Given the description of an element on the screen output the (x, y) to click on. 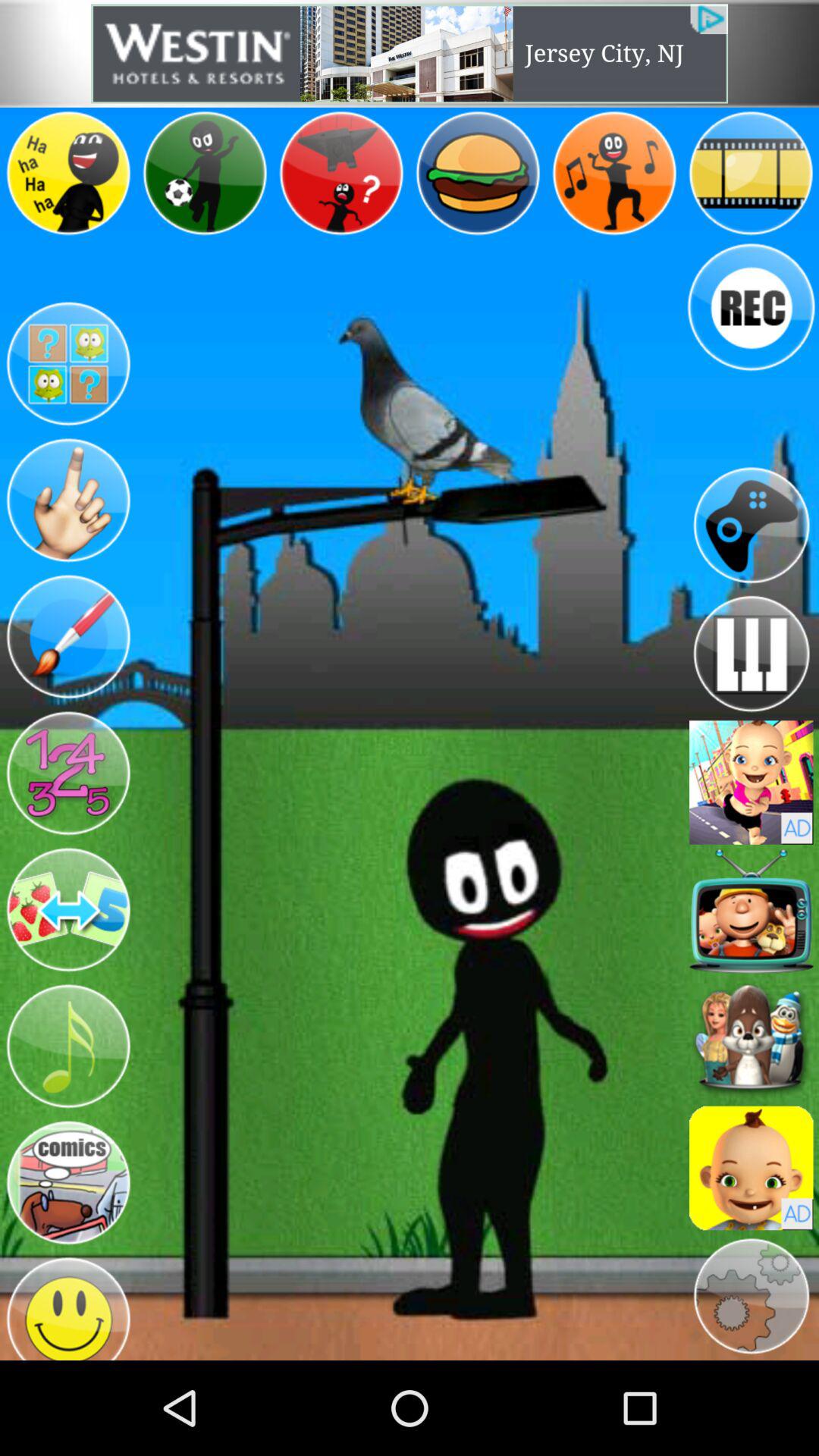
access settings (751, 1296)
